Given the description of an element on the screen output the (x, y) to click on. 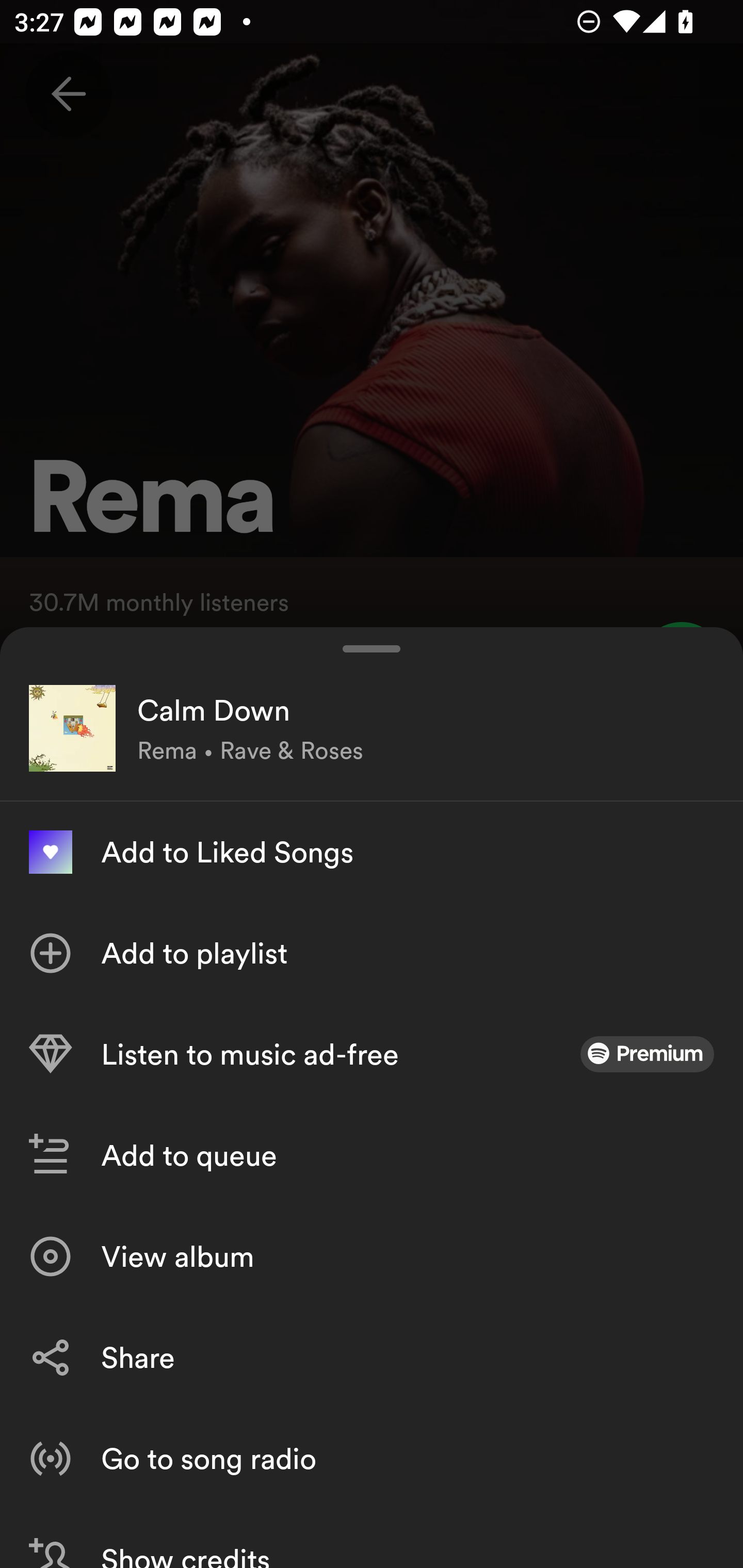
Add to Liked Songs (371, 852)
Add to playlist (371, 953)
Listen to music ad-free (371, 1054)
Add to queue (371, 1155)
View album (371, 1256)
Share (371, 1357)
Go to song radio (371, 1458)
Show credits (371, 1538)
